Given the description of an element on the screen output the (x, y) to click on. 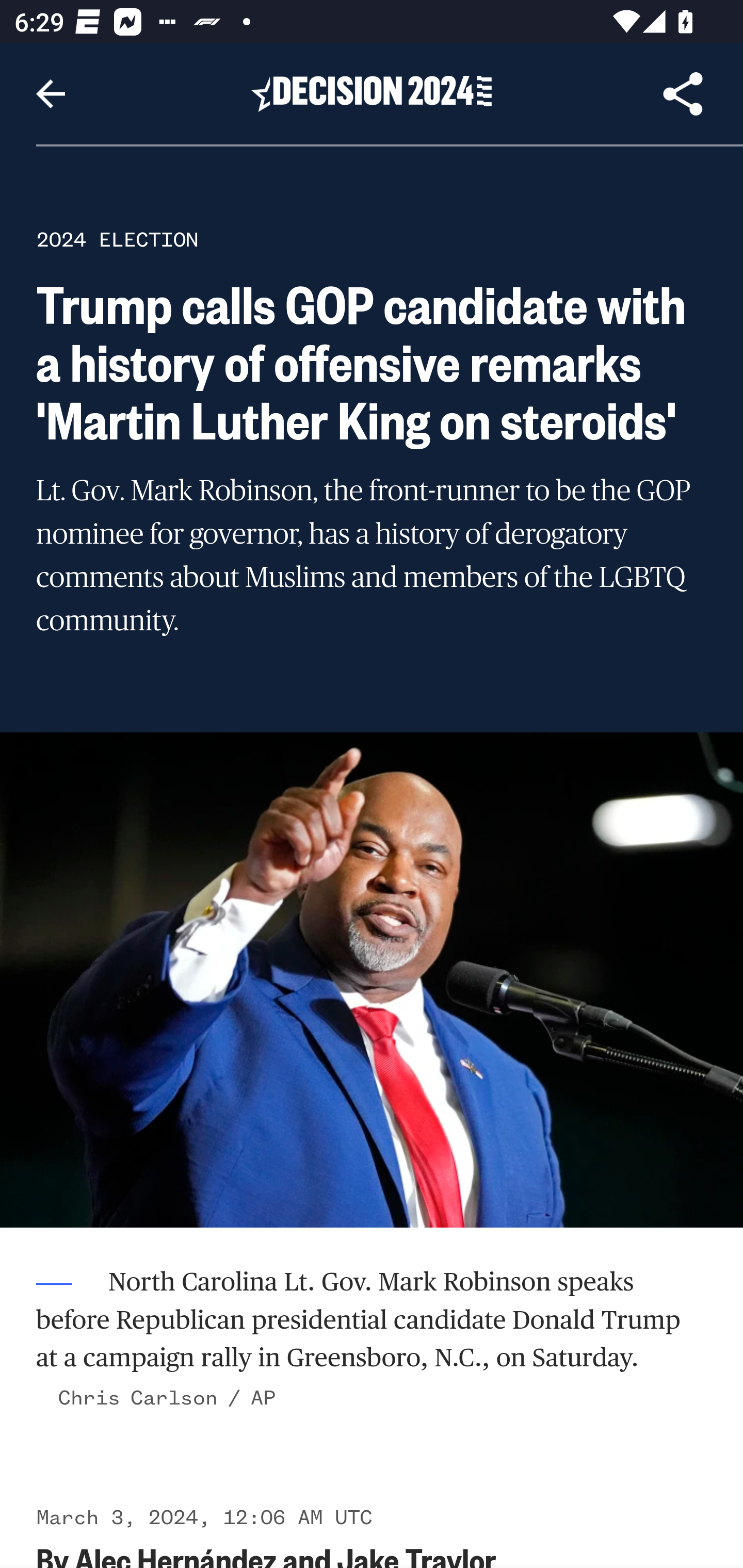
Navigate up (50, 93)
Share Article, button (683, 94)
Header, Decision 2024 (371, 93)
2024 ELECTION (117, 239)
